Given the description of an element on the screen output the (x, y) to click on. 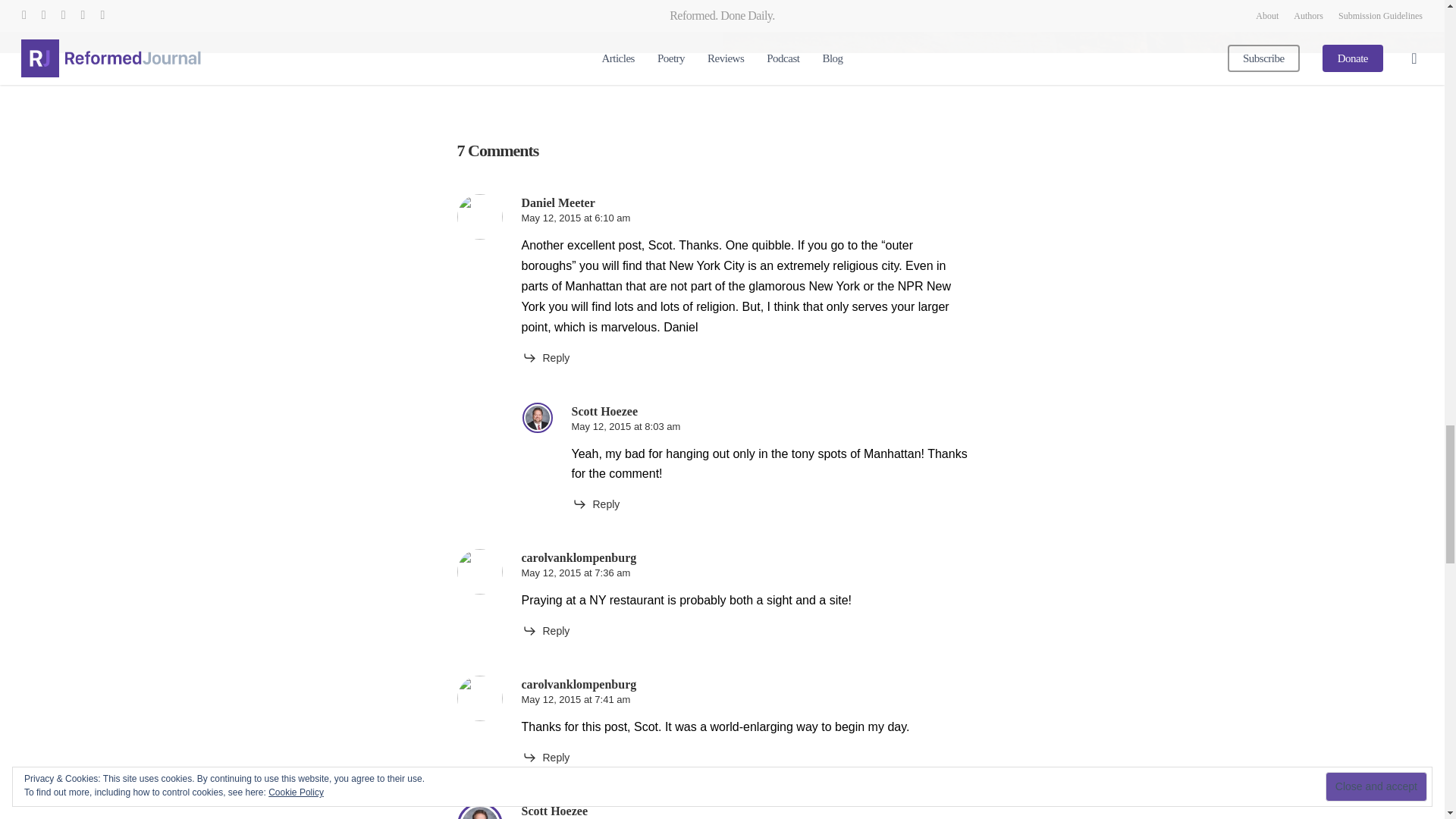
May 12, 2015 at 6:10 am (575, 217)
May 12, 2015 at 7:36 am (575, 572)
Reply (596, 503)
carolvanklompenburg (579, 684)
May 12, 2015 at 8:03 am (626, 426)
May 12, 2015 at 7:41 am (575, 699)
Reply (545, 357)
carolvanklompenburg (579, 557)
Reply (545, 630)
